Given the description of an element on the screen output the (x, y) to click on. 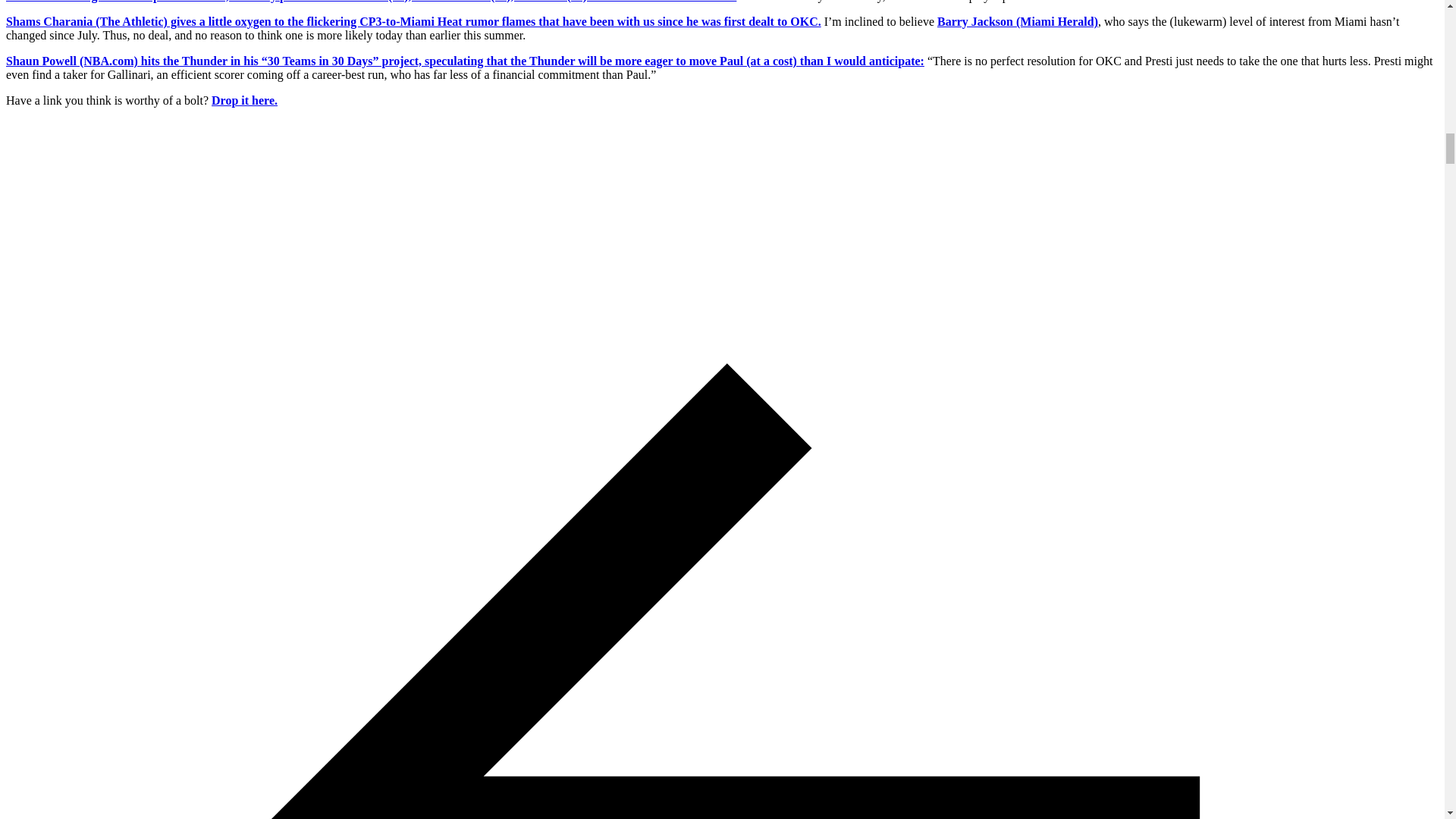
Drop it here. (244, 100)
